Given the description of an element on the screen output the (x, y) to click on. 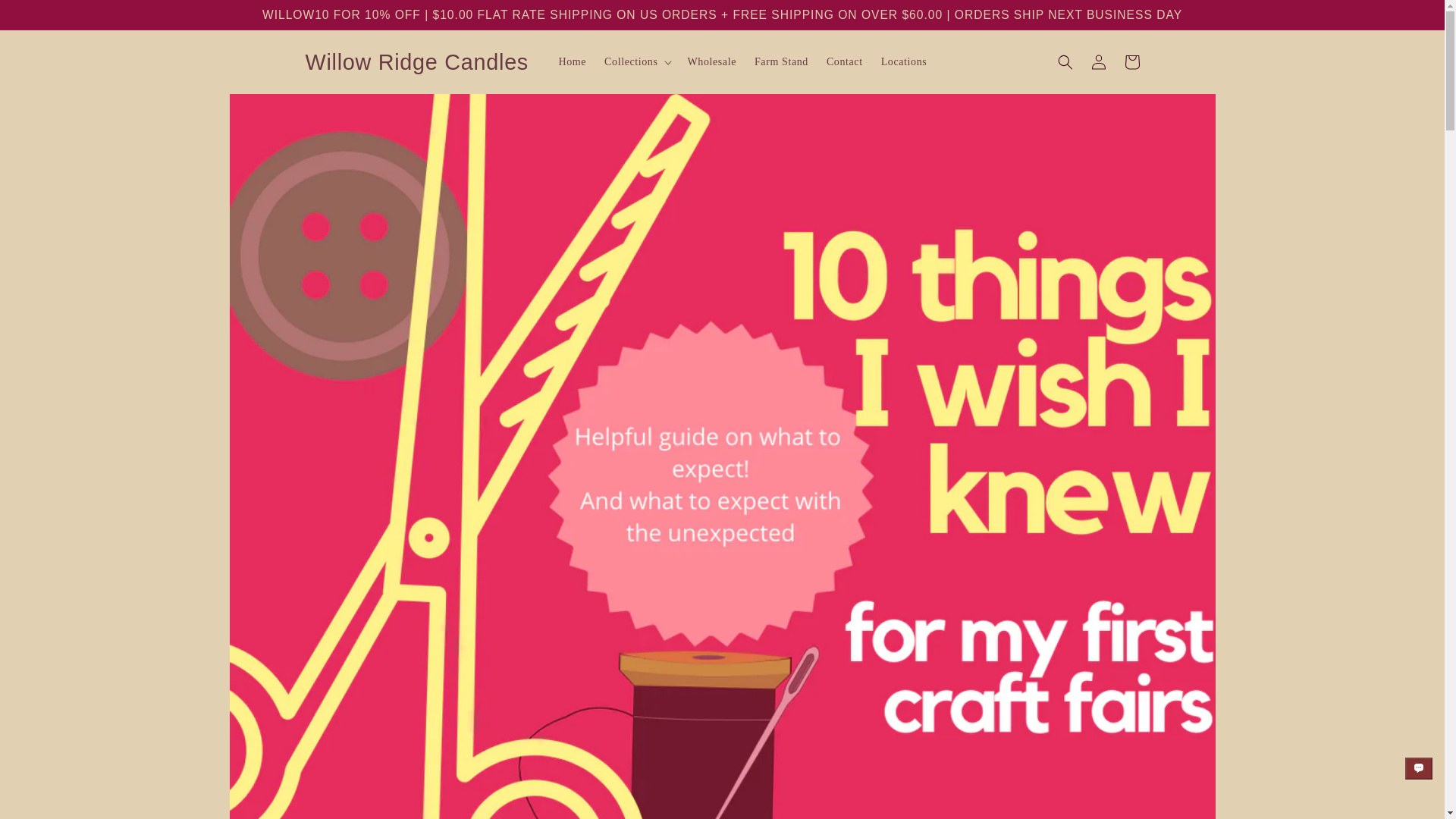
Cart (1131, 61)
Willow Ridge Candles (416, 62)
Locations (904, 61)
Home (571, 61)
Wholesale (711, 61)
Log in (1098, 61)
Farm Stand (780, 61)
Contact (844, 61)
Skip to content (46, 18)
